Given the description of an element on the screen output the (x, y) to click on. 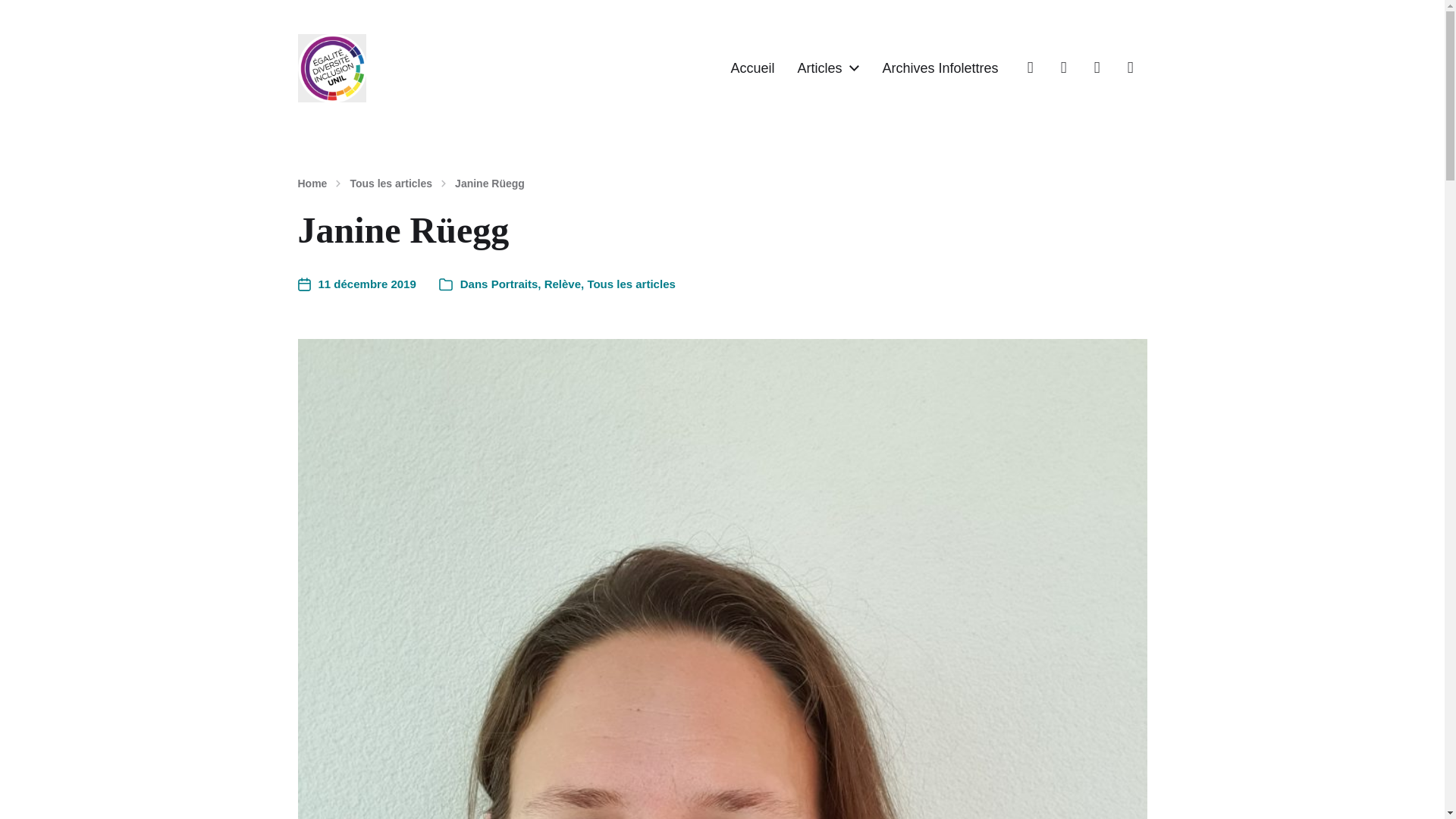
Tous les articles (630, 283)
Home (311, 183)
Accueil (752, 68)
Tous les articles (390, 183)
Articles (818, 68)
Portraits (515, 283)
Archives Infolettres (939, 68)
